Given the description of an element on the screen output the (x, y) to click on. 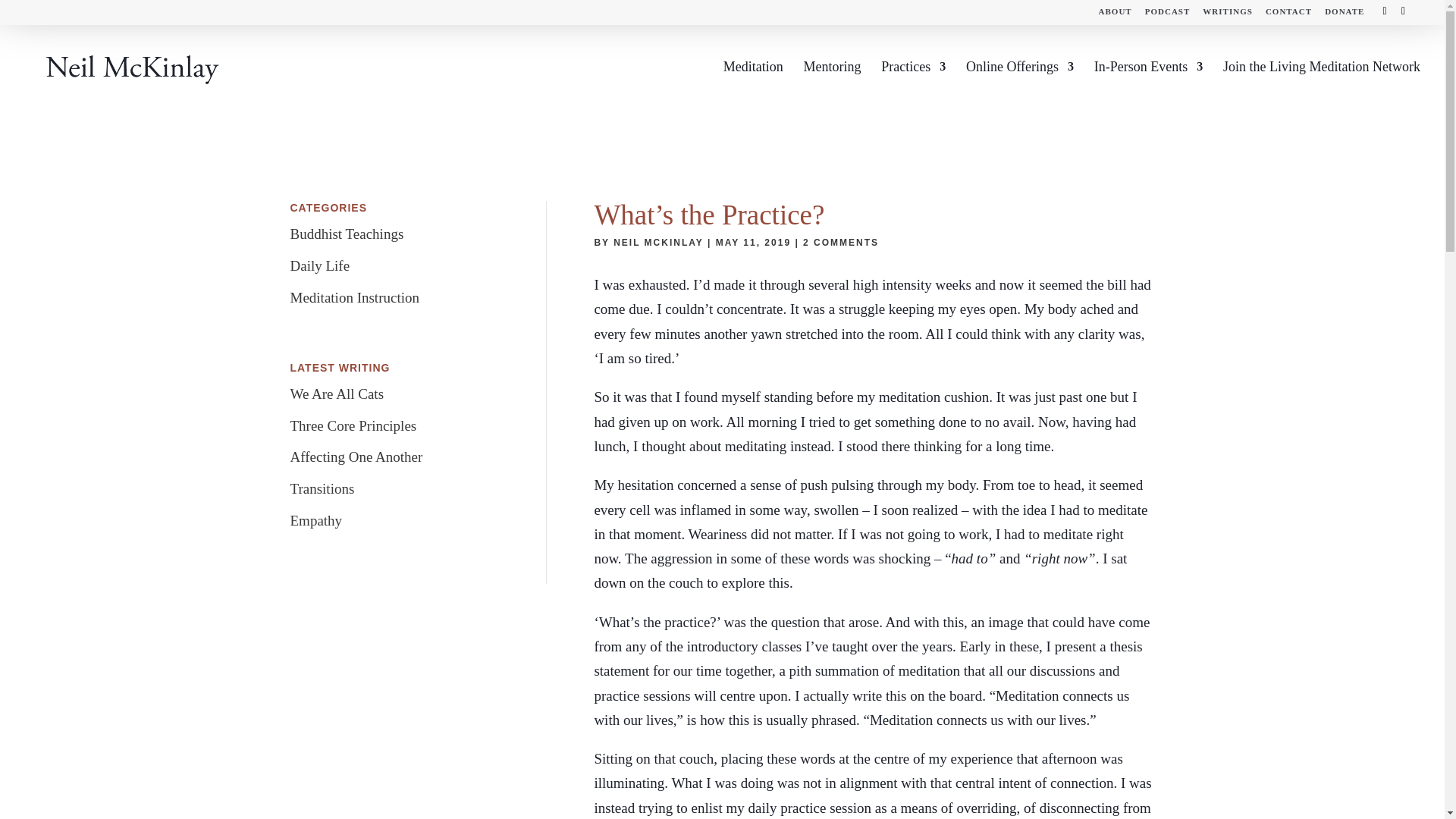
2 COMMENTS (841, 242)
Meditation (753, 85)
Transitions (321, 488)
Empathy (315, 520)
Mentoring (831, 85)
PODCAST (1167, 14)
In-Person Events (1148, 85)
ABOUT (1115, 14)
CONTACT (1288, 14)
Posts by Neil McKinlay (657, 242)
Online Offerings (1020, 85)
Daily Life (319, 265)
Affecting One Another (355, 456)
Three Core Principles (352, 424)
Practices (912, 85)
